Given the description of an element on the screen output the (x, y) to click on. 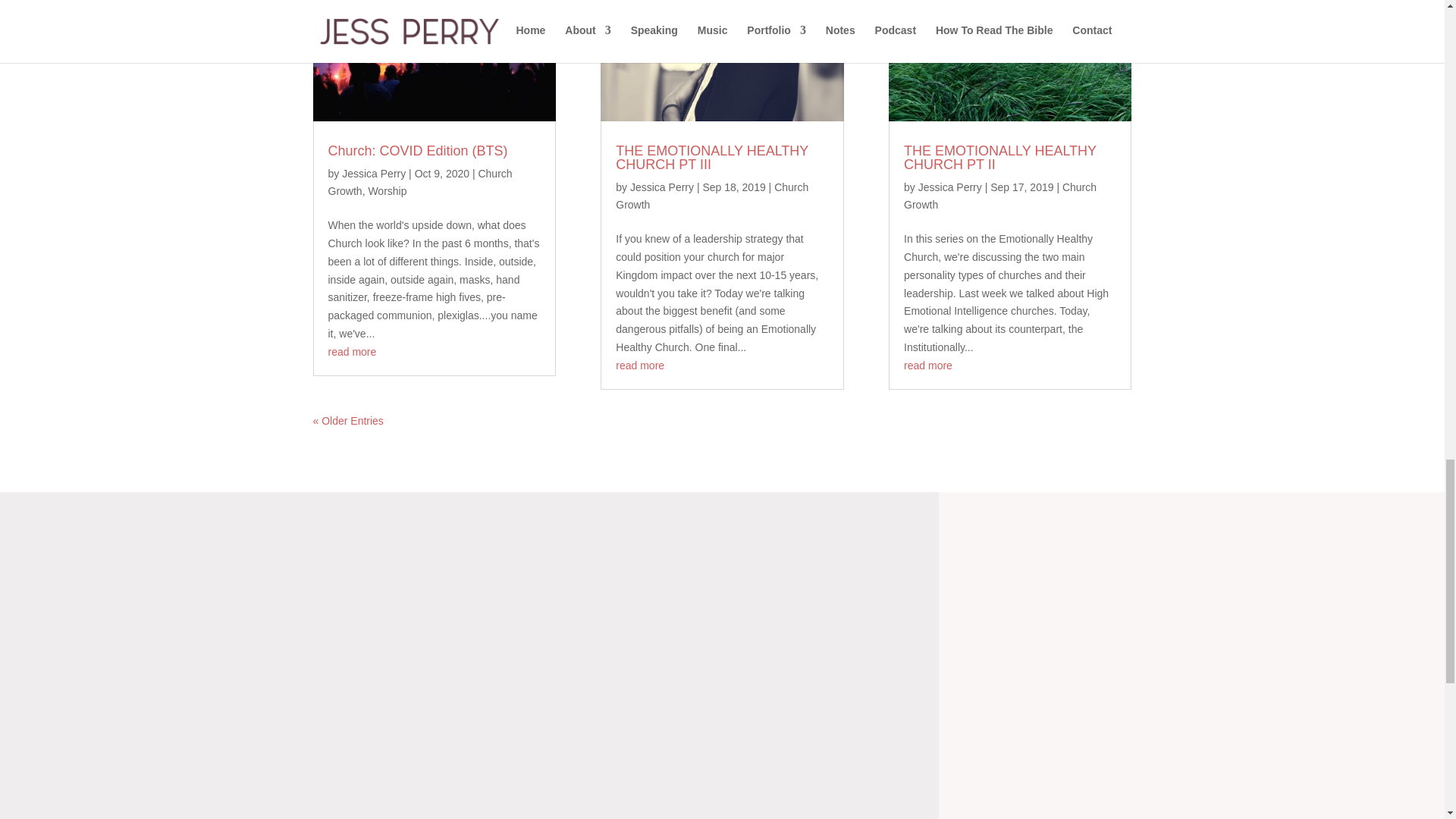
Church Growth (419, 182)
Posts by Jessica Perry (662, 186)
Posts by Jessica Perry (374, 173)
Jessica Perry (374, 173)
Posts by Jessica Perry (949, 186)
